Given the description of an element on the screen output the (x, y) to click on. 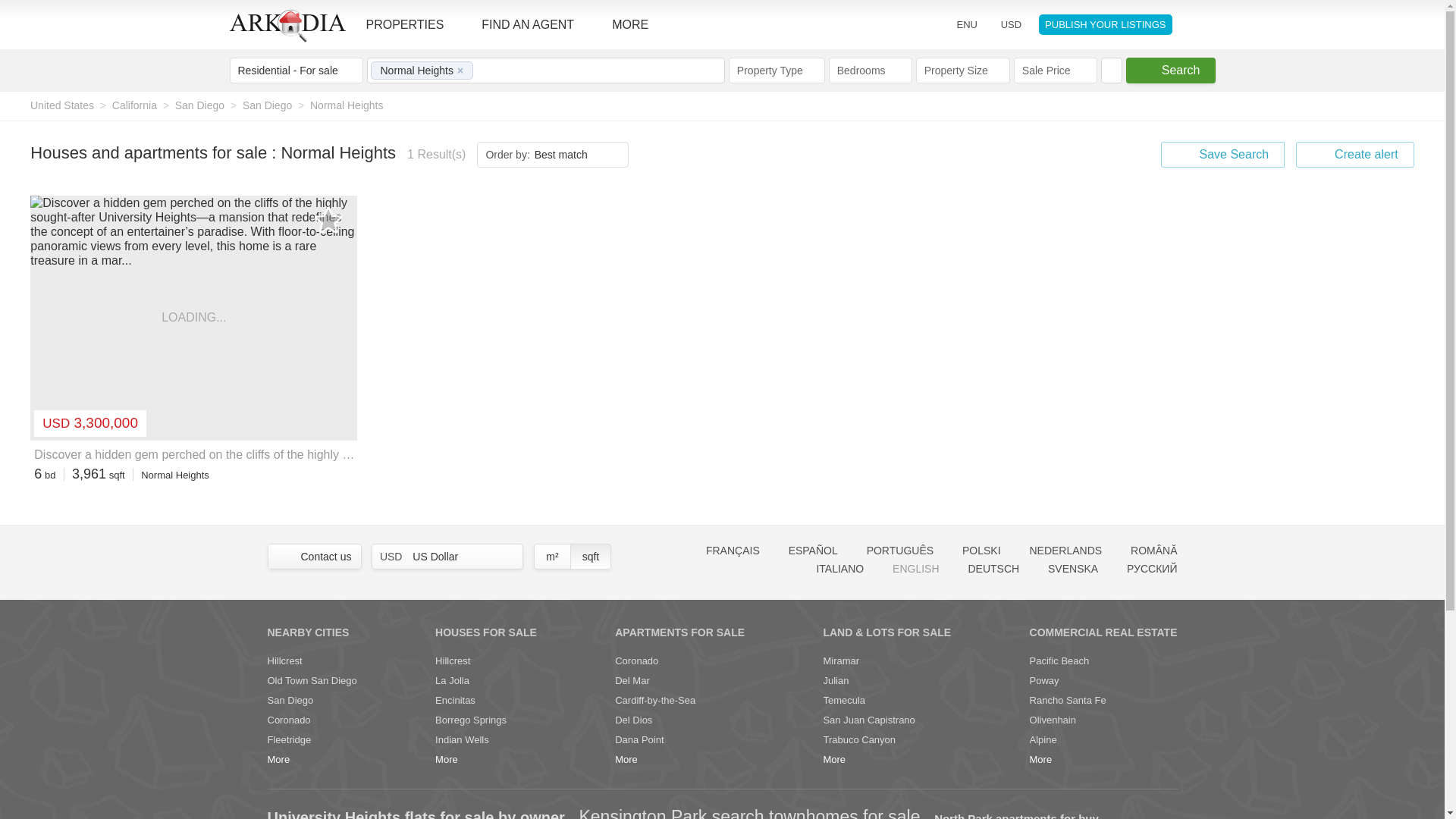
PROPERTIES (413, 24)
MORE (637, 24)
FIND AN AGENT (535, 24)
ENU USD (980, 24)
